Given the description of an element on the screen output the (x, y) to click on. 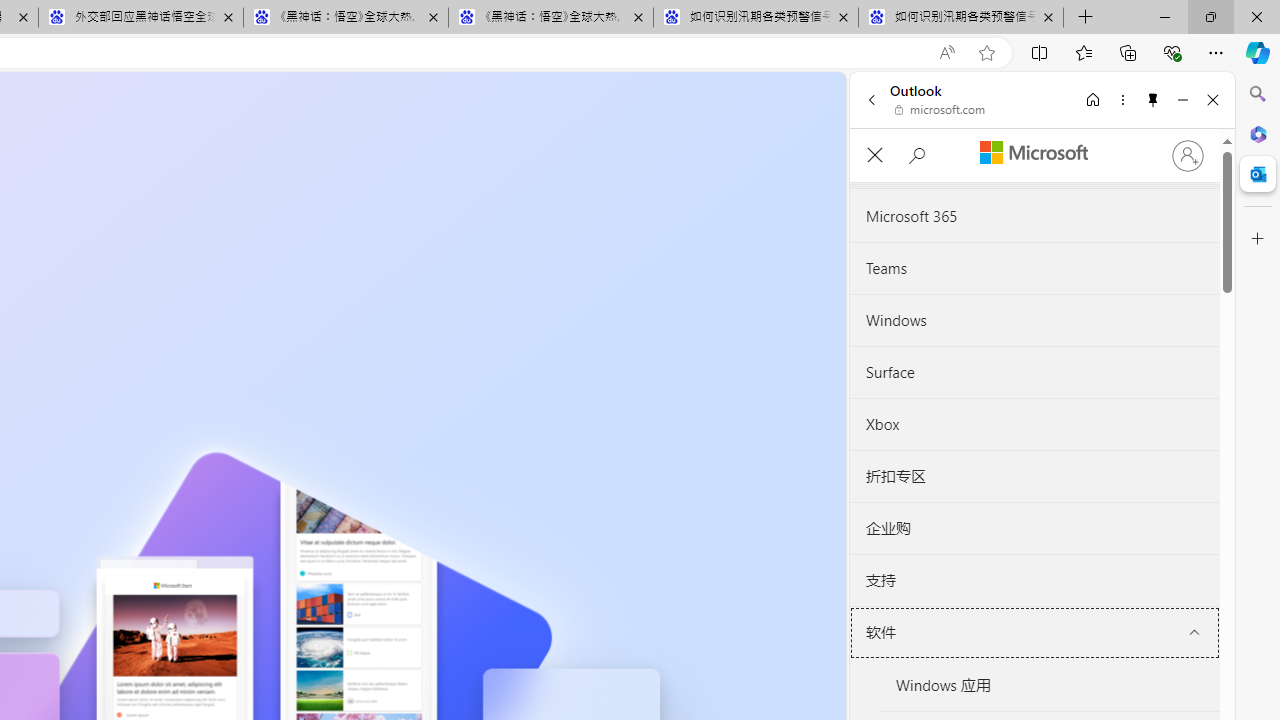
Windows (1034, 319)
Teams (1034, 268)
Xbox (1034, 424)
Windows (1034, 321)
Surface (1034, 372)
